Given the description of an element on the screen output the (x, y) to click on. 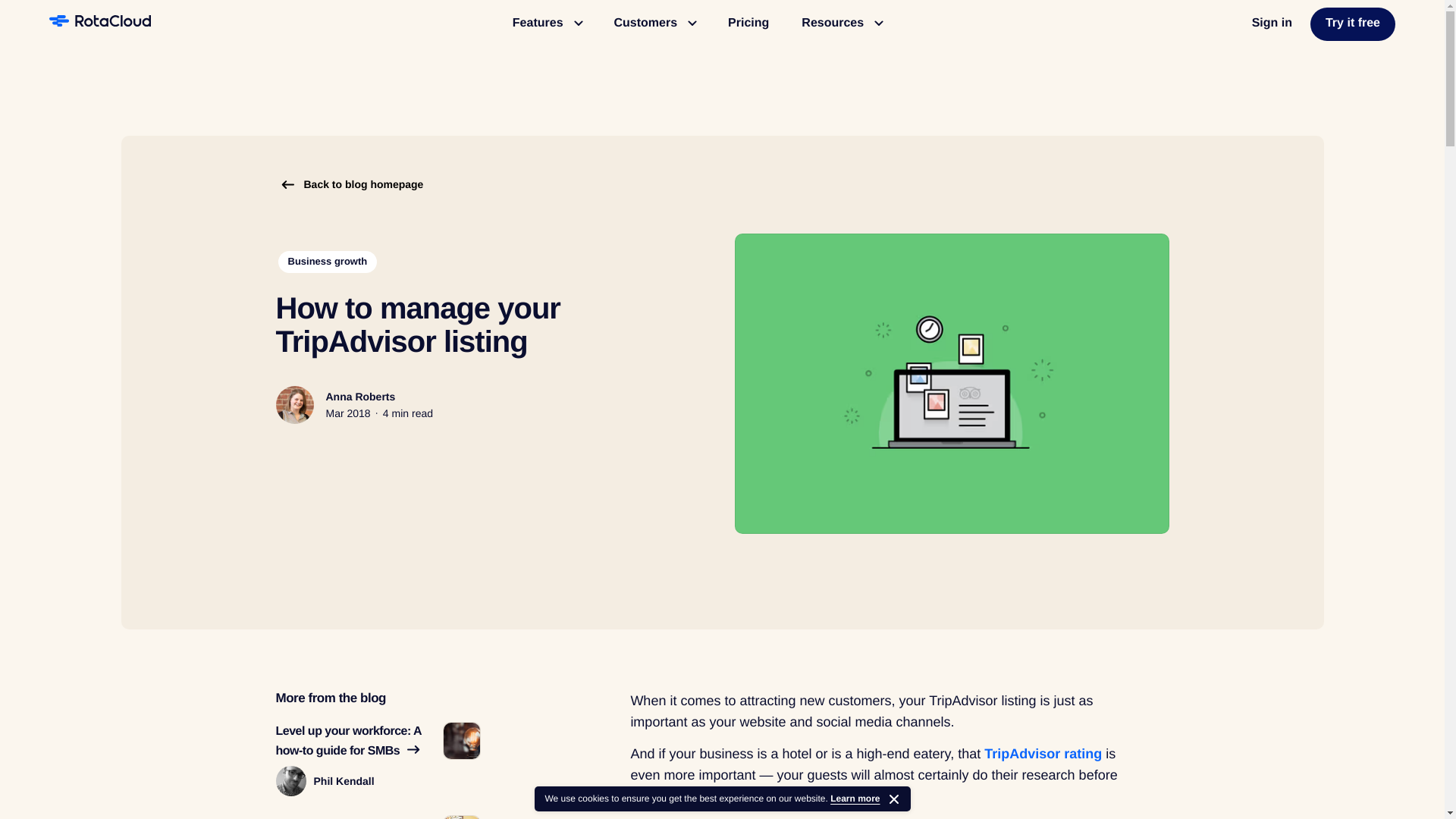
Features (546, 23)
Pricing (748, 23)
Customers (654, 23)
Resources (841, 23)
